Given the description of an element on the screen output the (x, y) to click on. 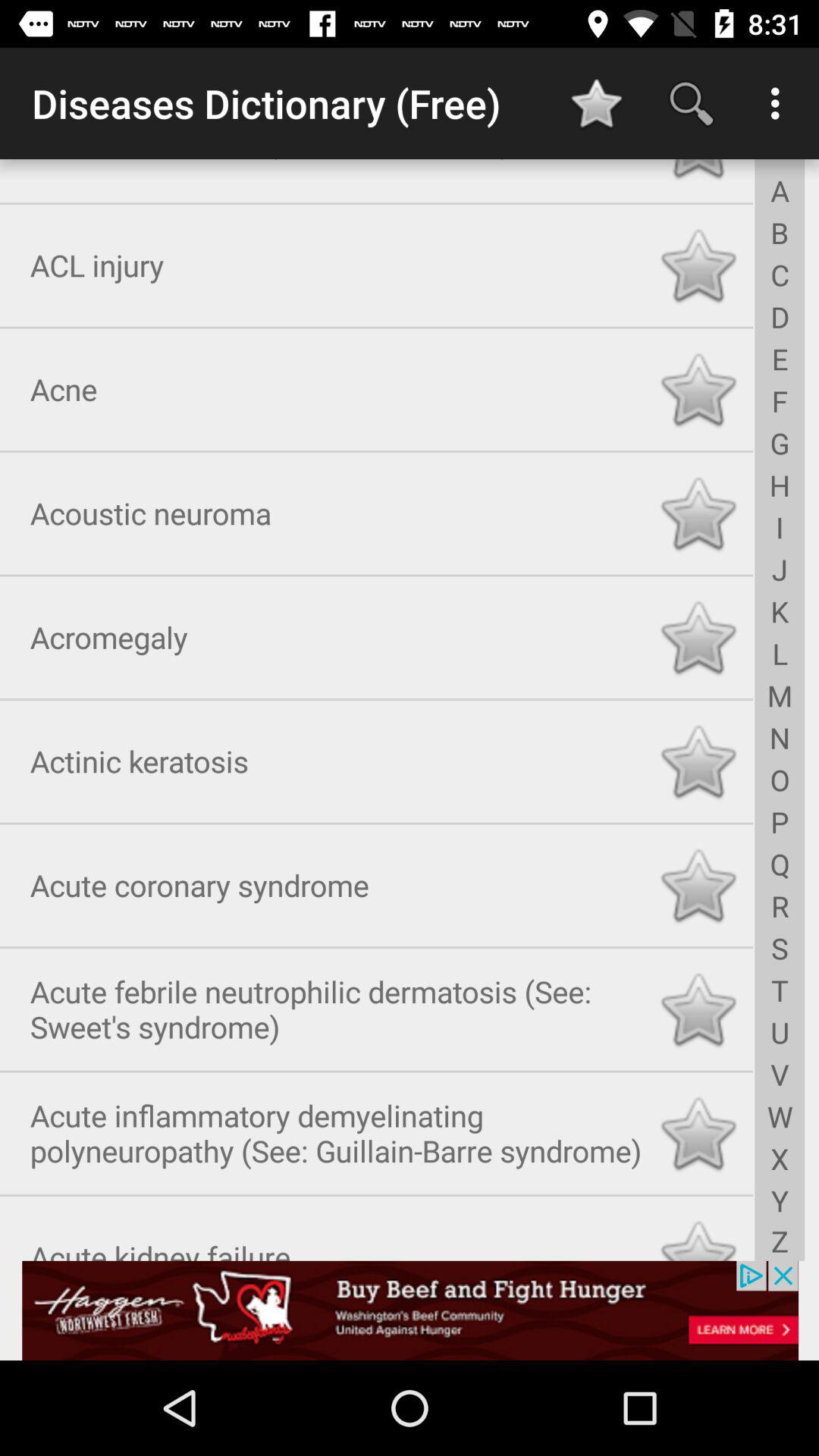
select the button (697, 1006)
